Given the description of an element on the screen output the (x, y) to click on. 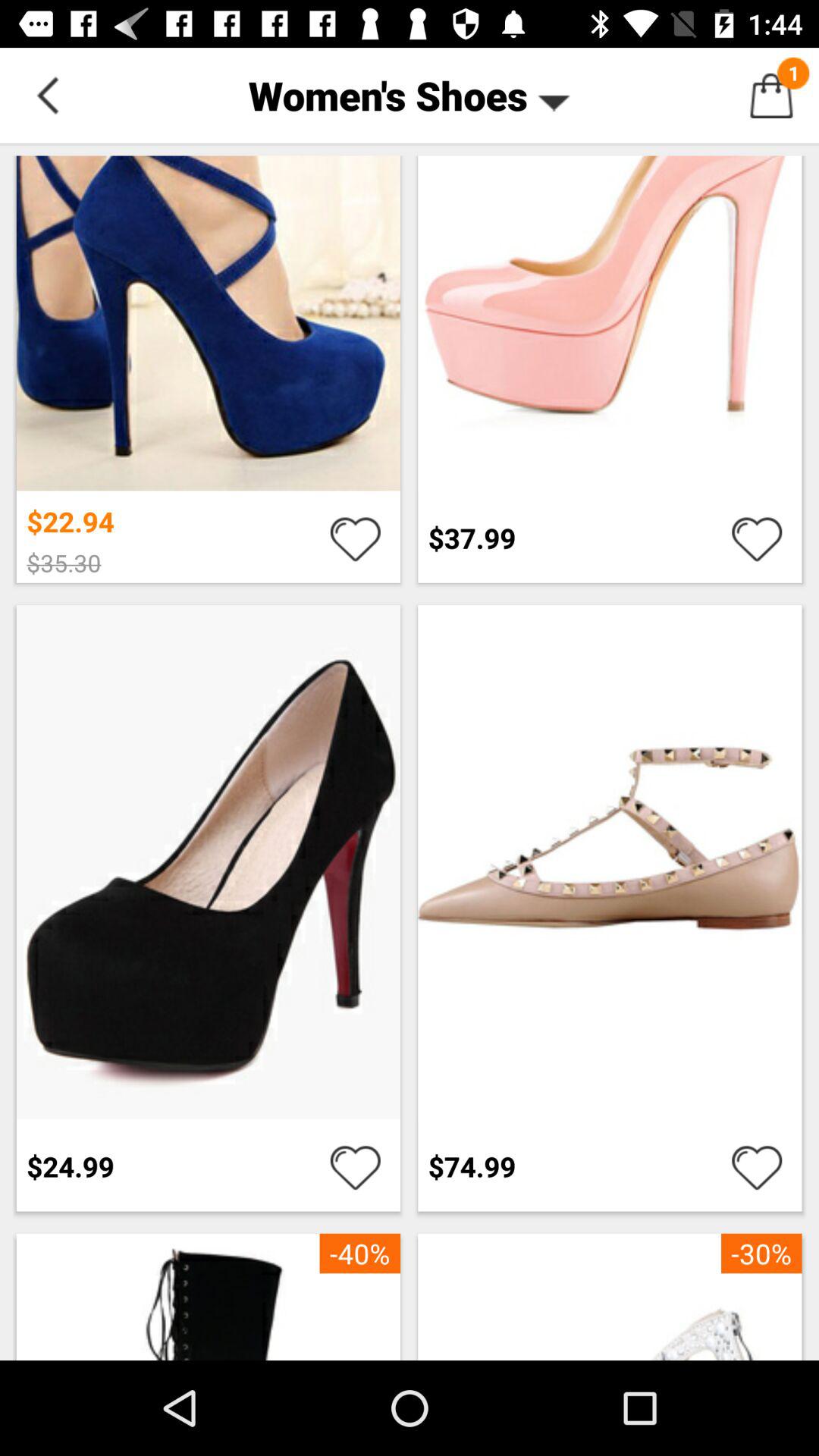
like button (355, 1166)
